Given the description of an element on the screen output the (x, y) to click on. 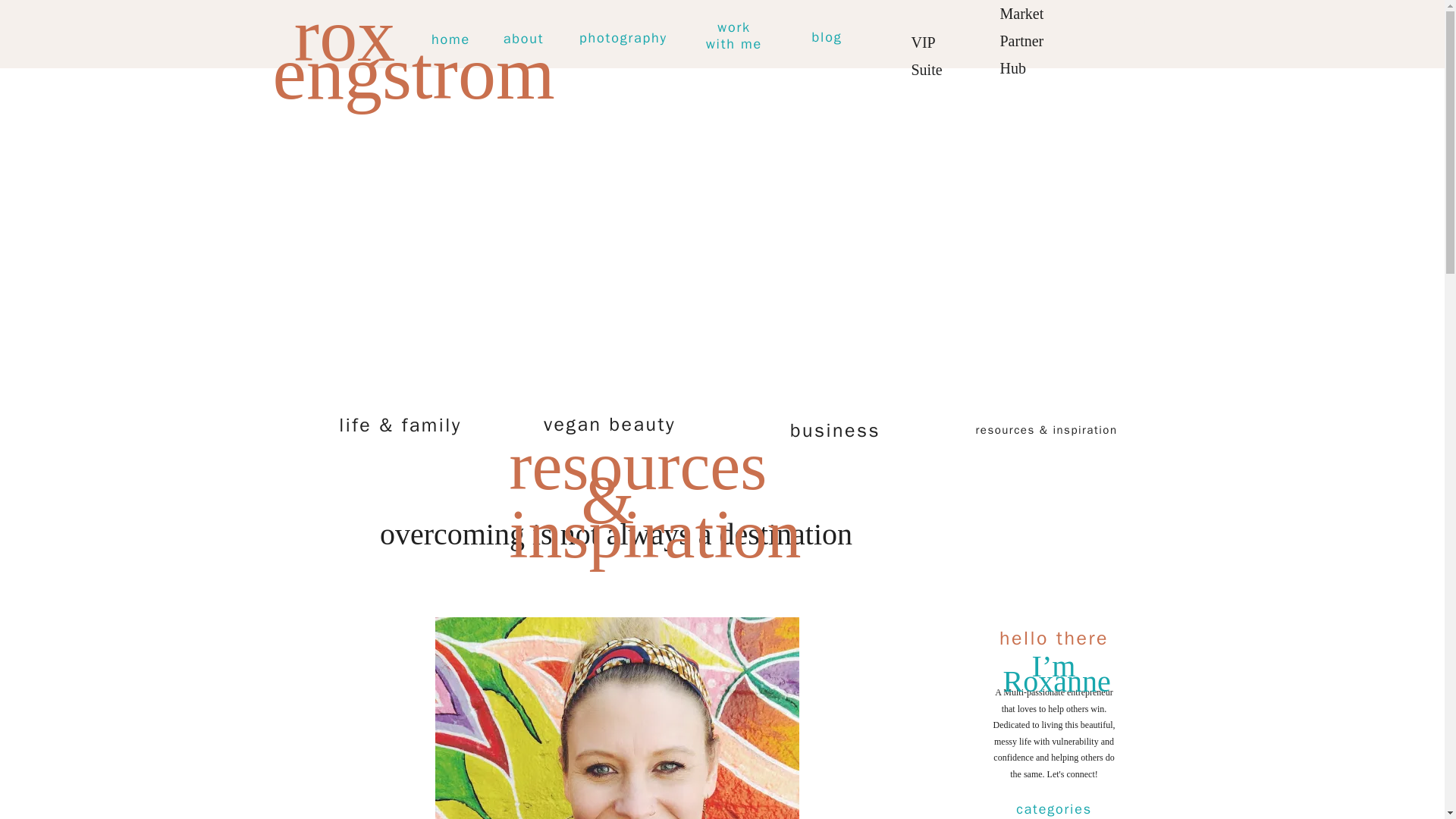
business (834, 430)
about (524, 39)
let's connect (1139, 29)
home (450, 39)
blog (826, 37)
VIP Suite (936, 37)
photography (623, 38)
Market Partner Hub (1032, 33)
vegan beauty (733, 37)
